Given the description of an element on the screen output the (x, y) to click on. 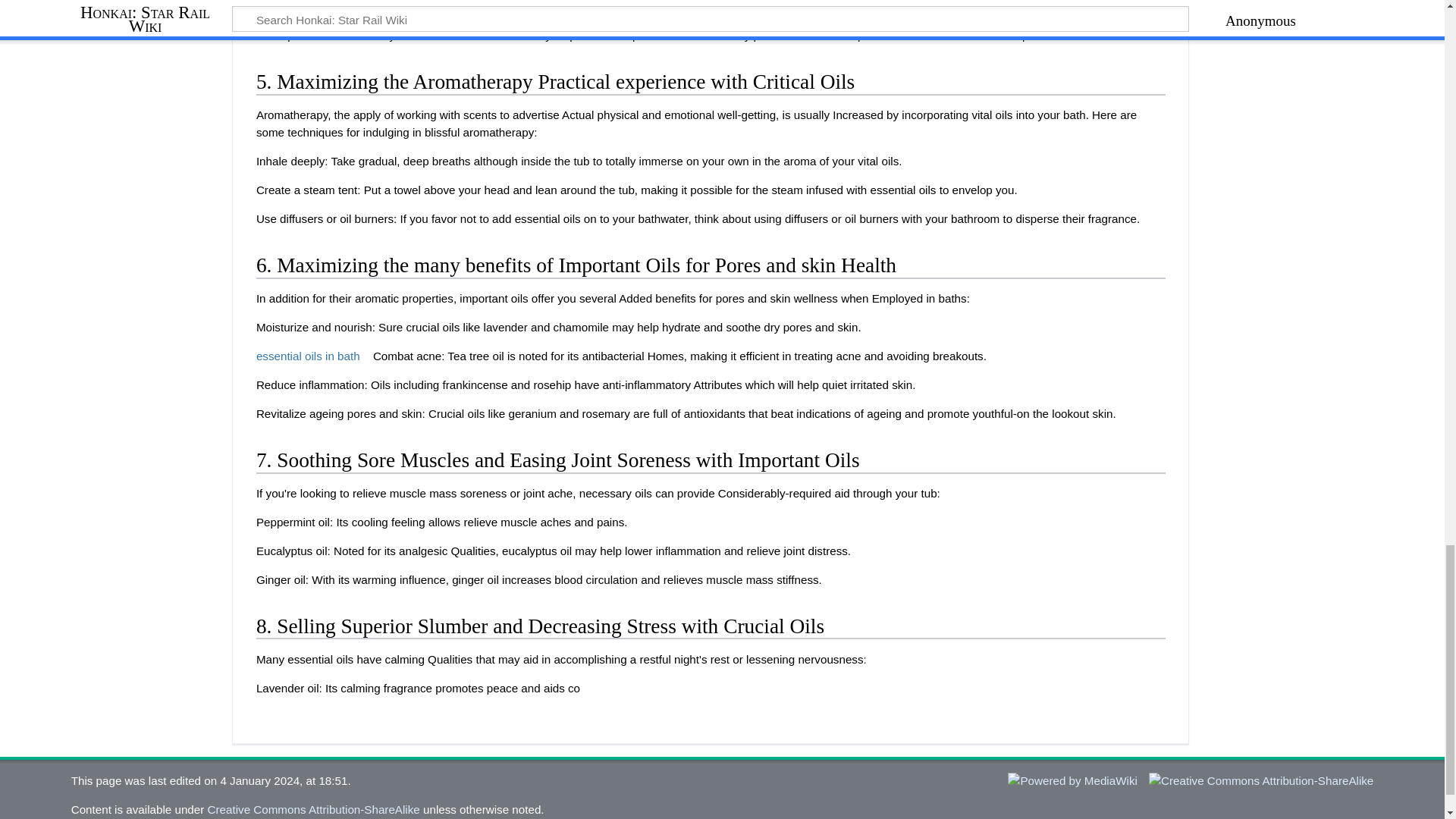
Creative Commons Attribution-ShareAlike (314, 809)
essential oils in bath (312, 355)
